Given the description of an element on the screen output the (x, y) to click on. 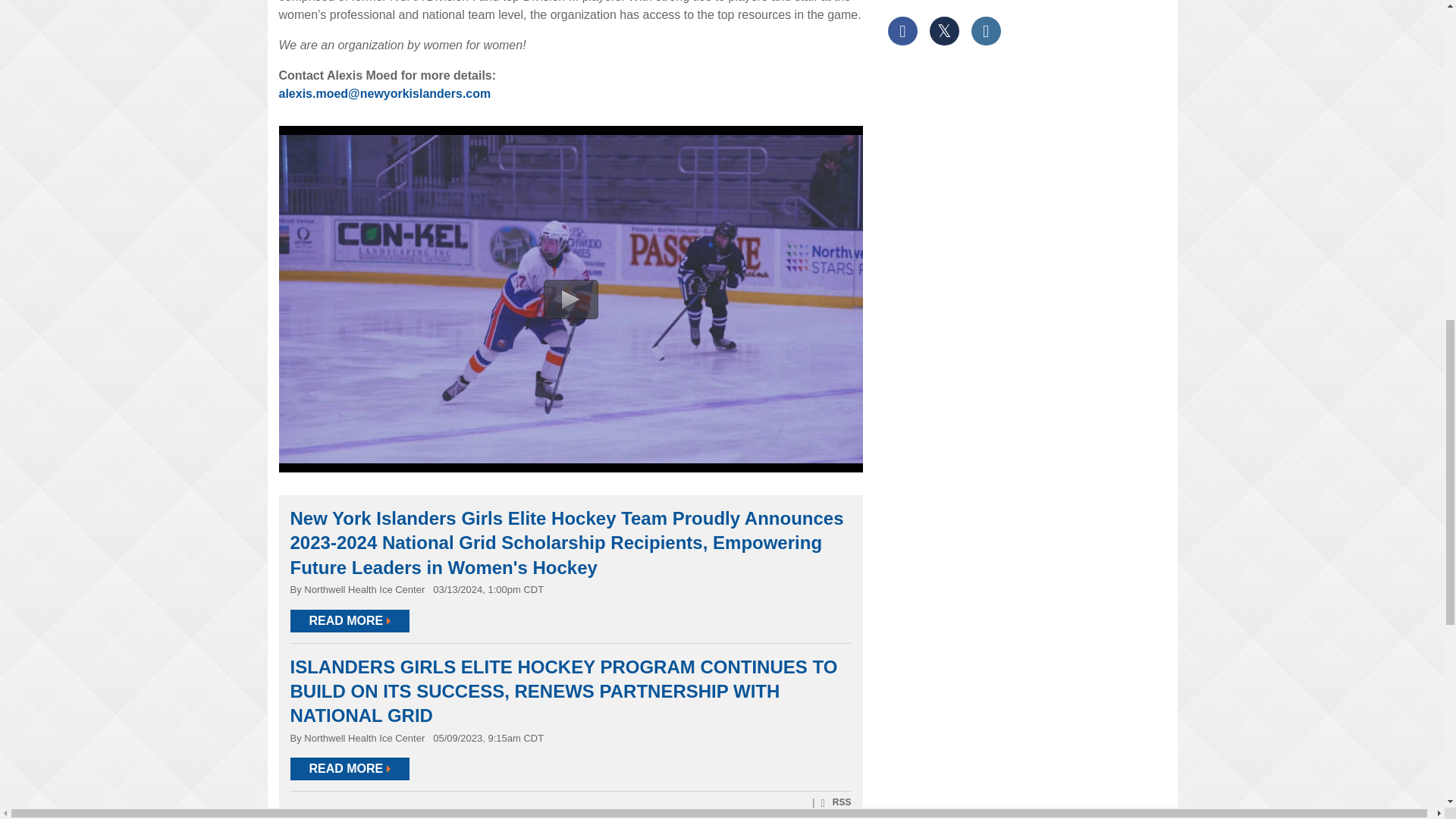
X App (944, 30)
Facebook (902, 30)
Subscribe to RSS Feed (833, 802)
Instagram (985, 30)
READ MORE (349, 620)
